Given the description of an element on the screen output the (x, y) to click on. 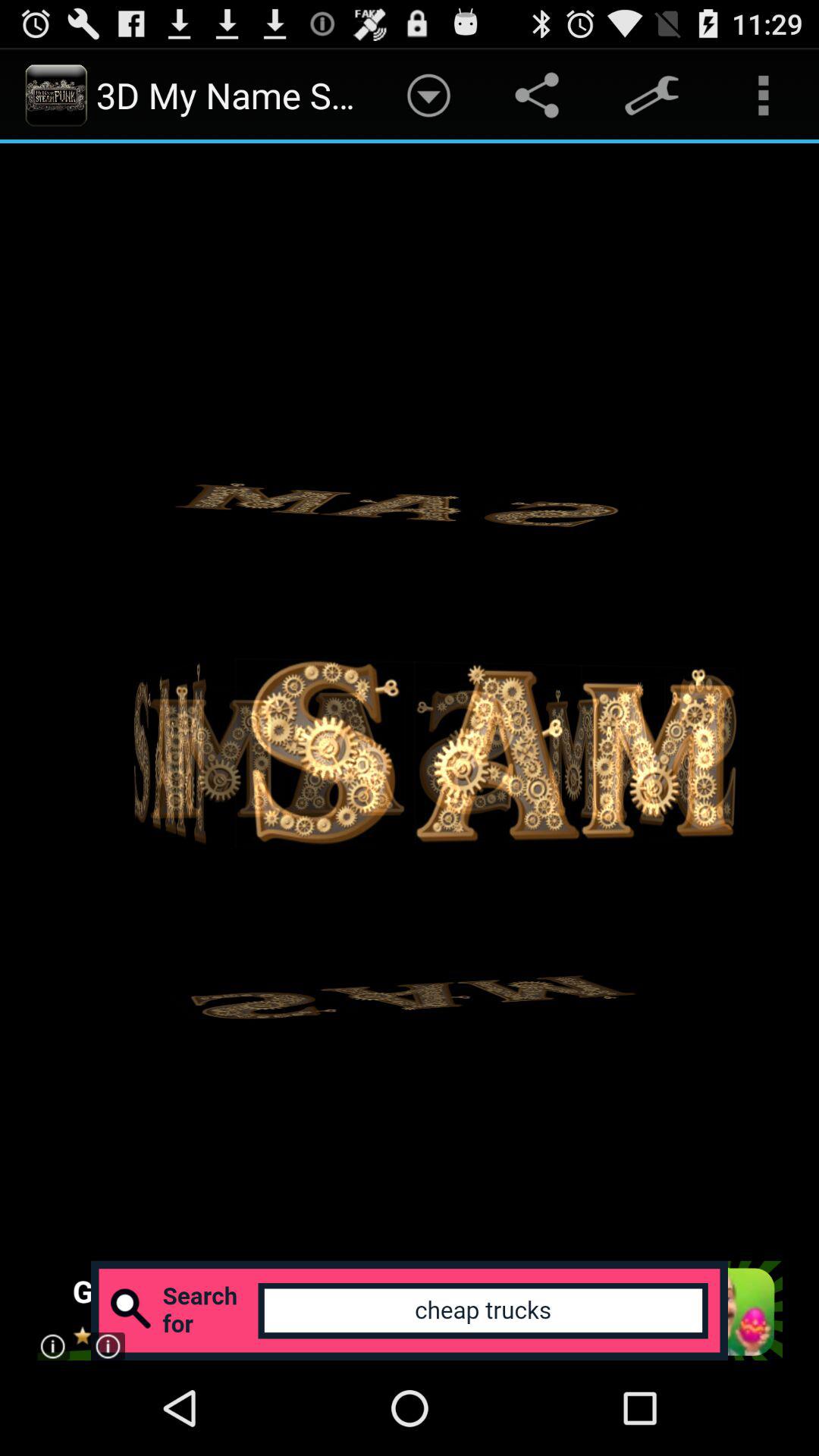
expand add (408, 1310)
